Given the description of an element on the screen output the (x, y) to click on. 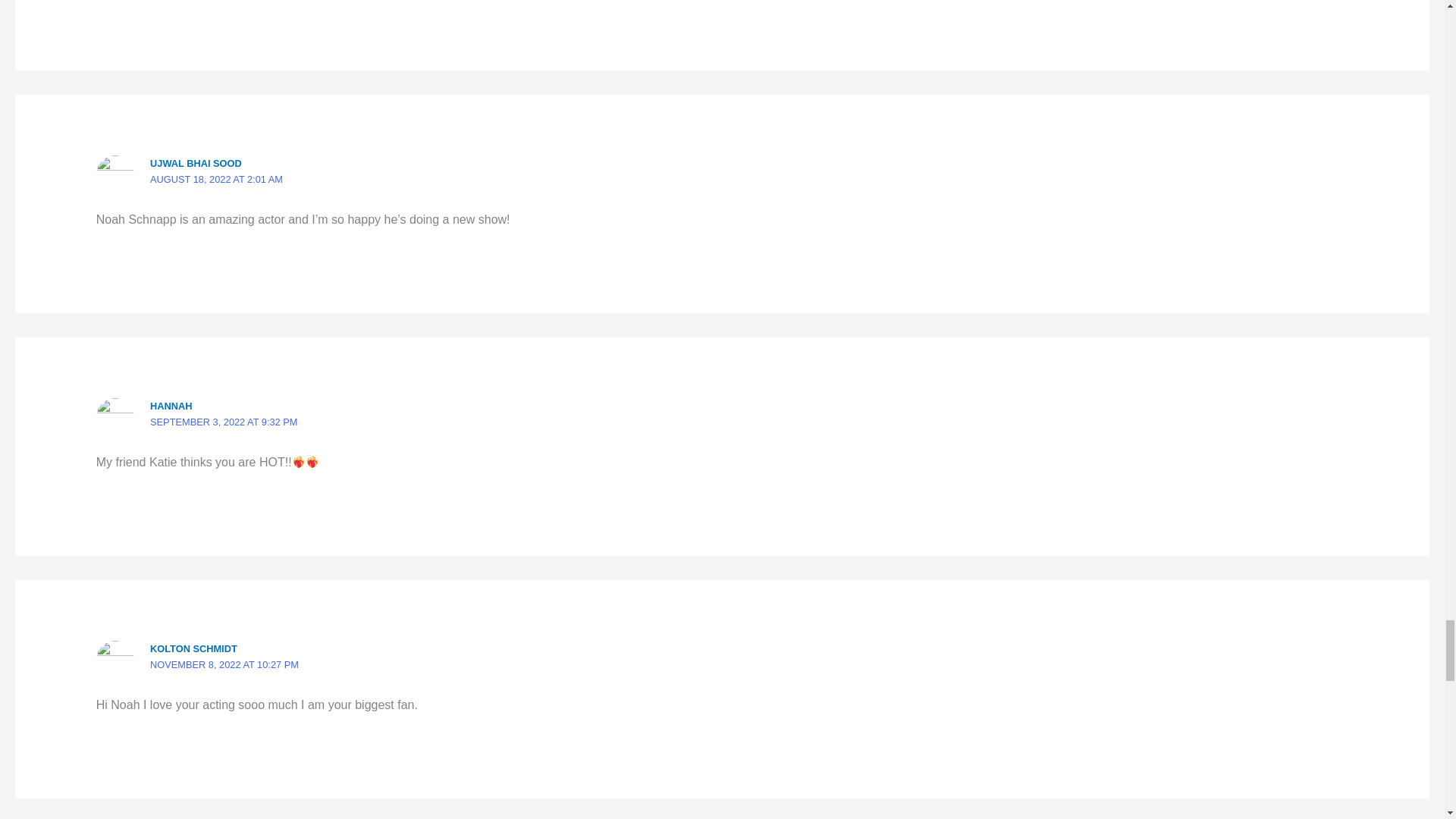
NOVEMBER 8, 2022 AT 10:27 PM (223, 664)
AUGUST 18, 2022 AT 2:01 AM (215, 179)
SEPTEMBER 3, 2022 AT 9:32 PM (223, 421)
